Given the description of an element on the screen output the (x, y) to click on. 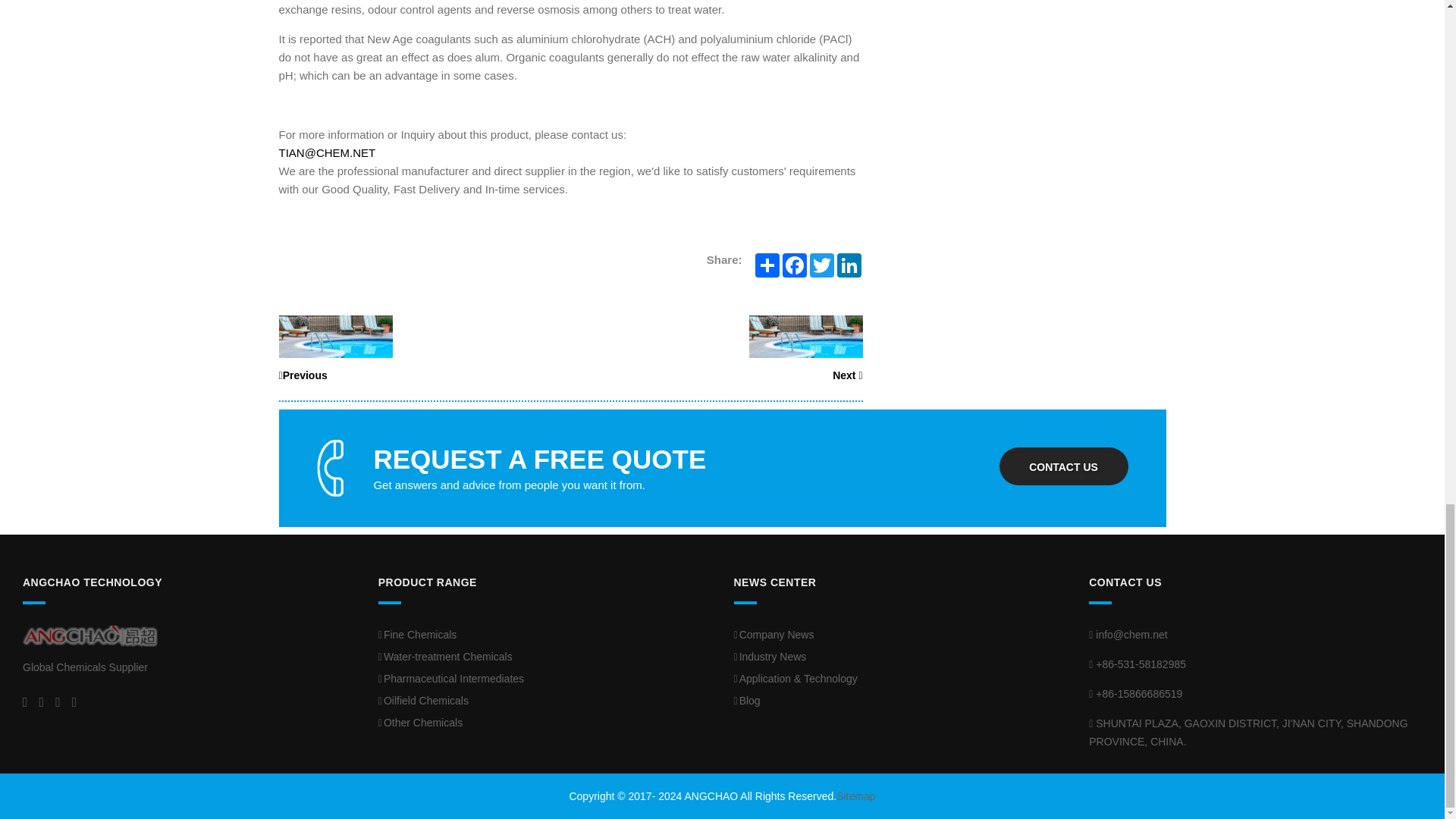
Share (767, 265)
